Given the description of an element on the screen output the (x, y) to click on. 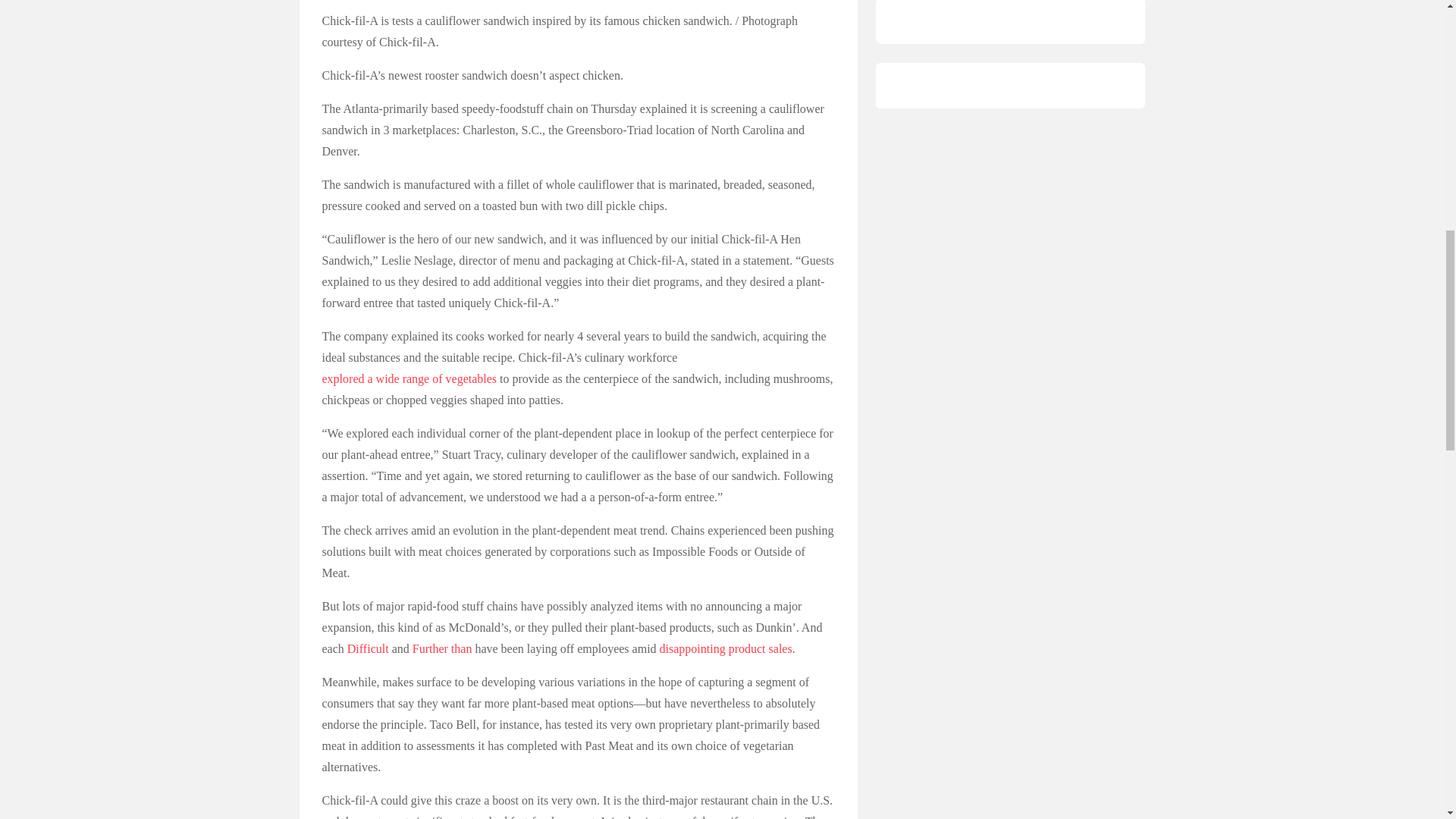
Difficult (367, 649)
explored a wide range of vegetables (408, 378)
Further than (441, 649)
disappointing product sales (725, 649)
